Given the description of an element on the screen output the (x, y) to click on. 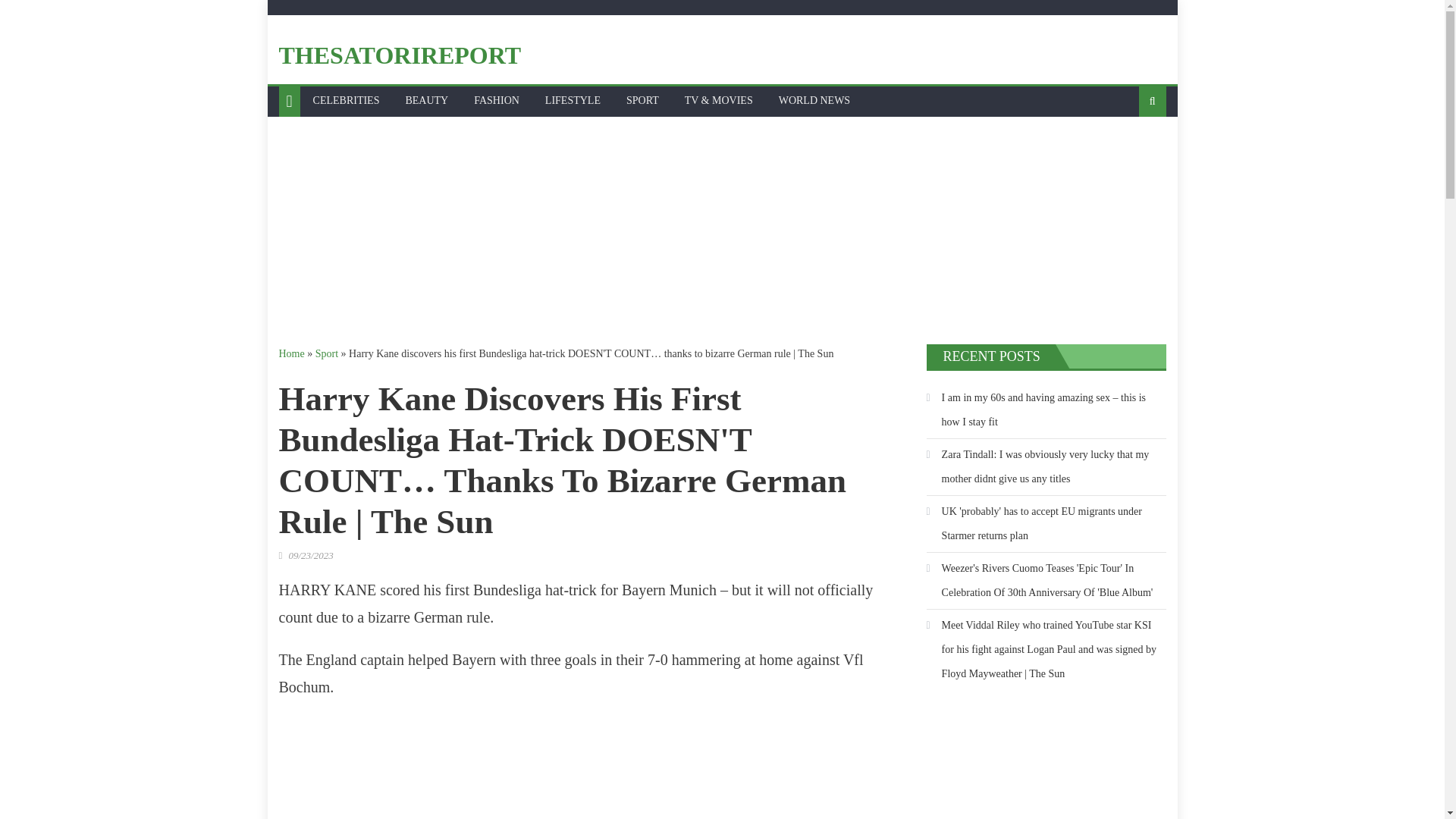
LIFESTYLE (572, 100)
CELEBRITIES (346, 100)
Sport (326, 353)
Home (291, 353)
Search (1128, 150)
FASHION (497, 100)
BEAUTY (426, 100)
